Given the description of an element on the screen output the (x, y) to click on. 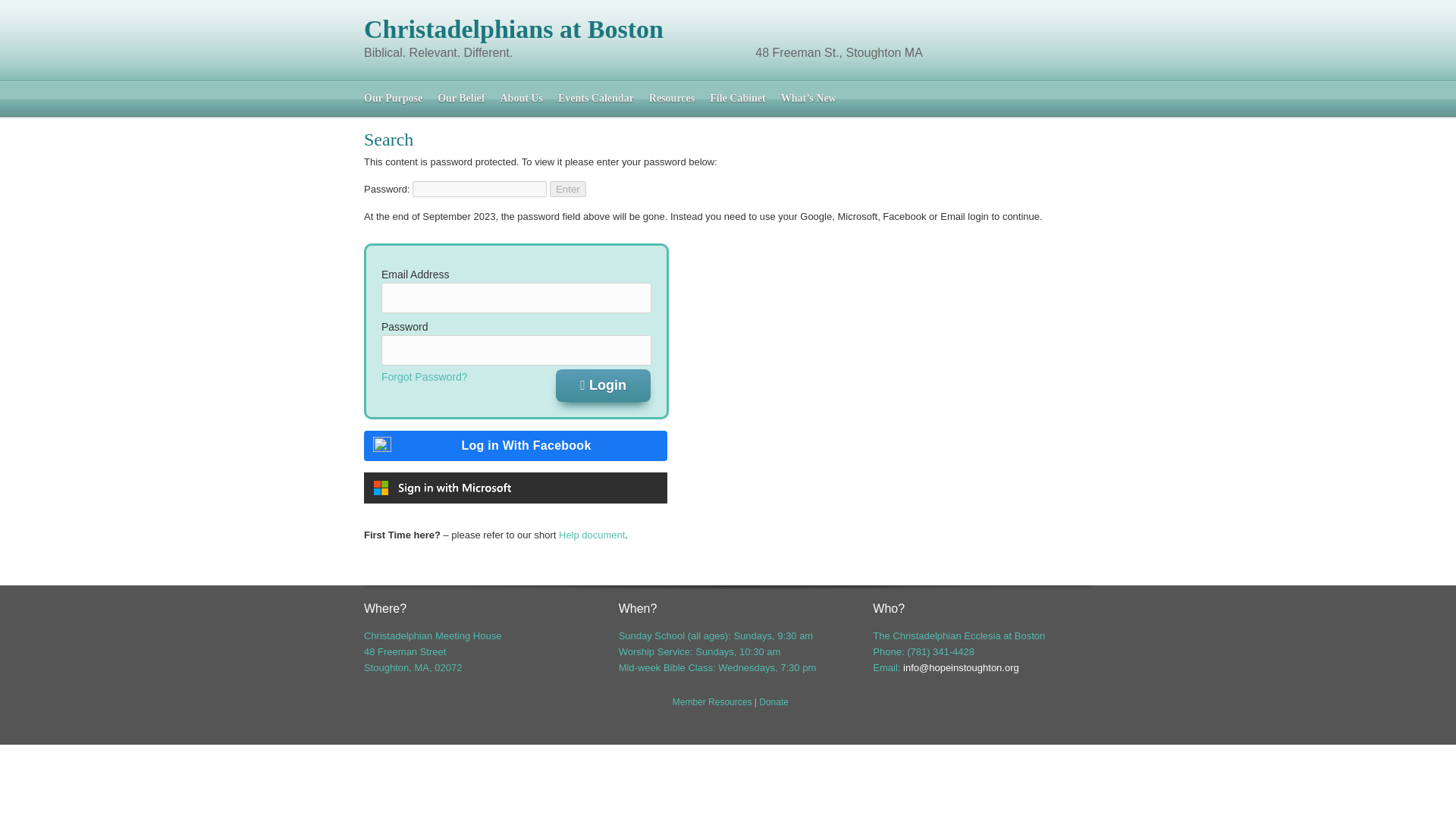
Our Belief (460, 97)
Login (603, 385)
About Us (521, 97)
Log in With Facebook (515, 445)
Donate (773, 701)
Christadelphians at Boston (513, 29)
Our Purpose (393, 97)
Enter (568, 188)
first, please enter email address above (424, 377)
Member Resources (712, 701)
Help document (591, 534)
Enter (568, 188)
Christadelphians at Boston (513, 29)
Forgot Password? (424, 377)
Events Calendar (596, 97)
